Given the description of an element on the screen output the (x, y) to click on. 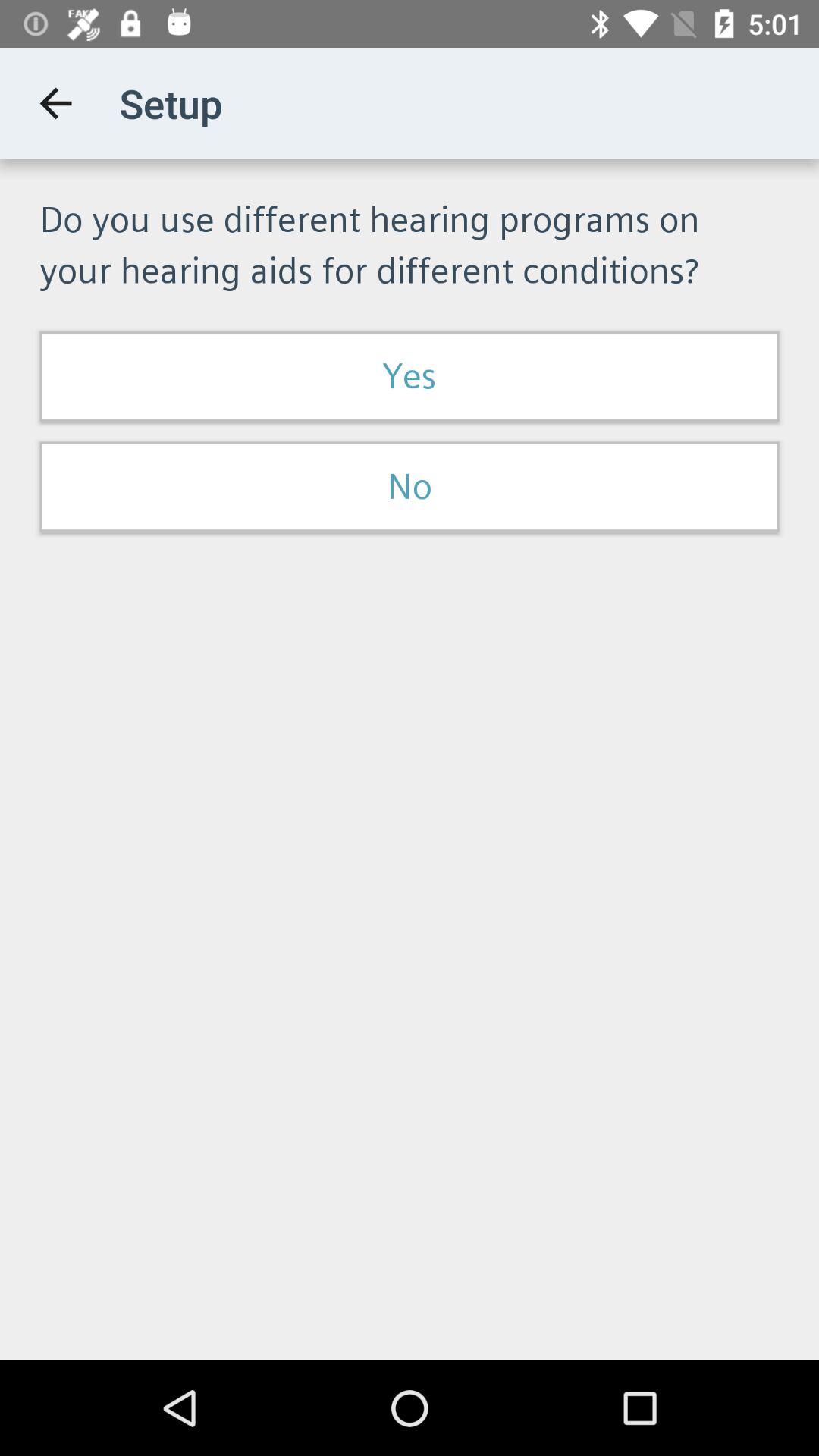
choose item below the yes item (409, 486)
